Given the description of an element on the screen output the (x, y) to click on. 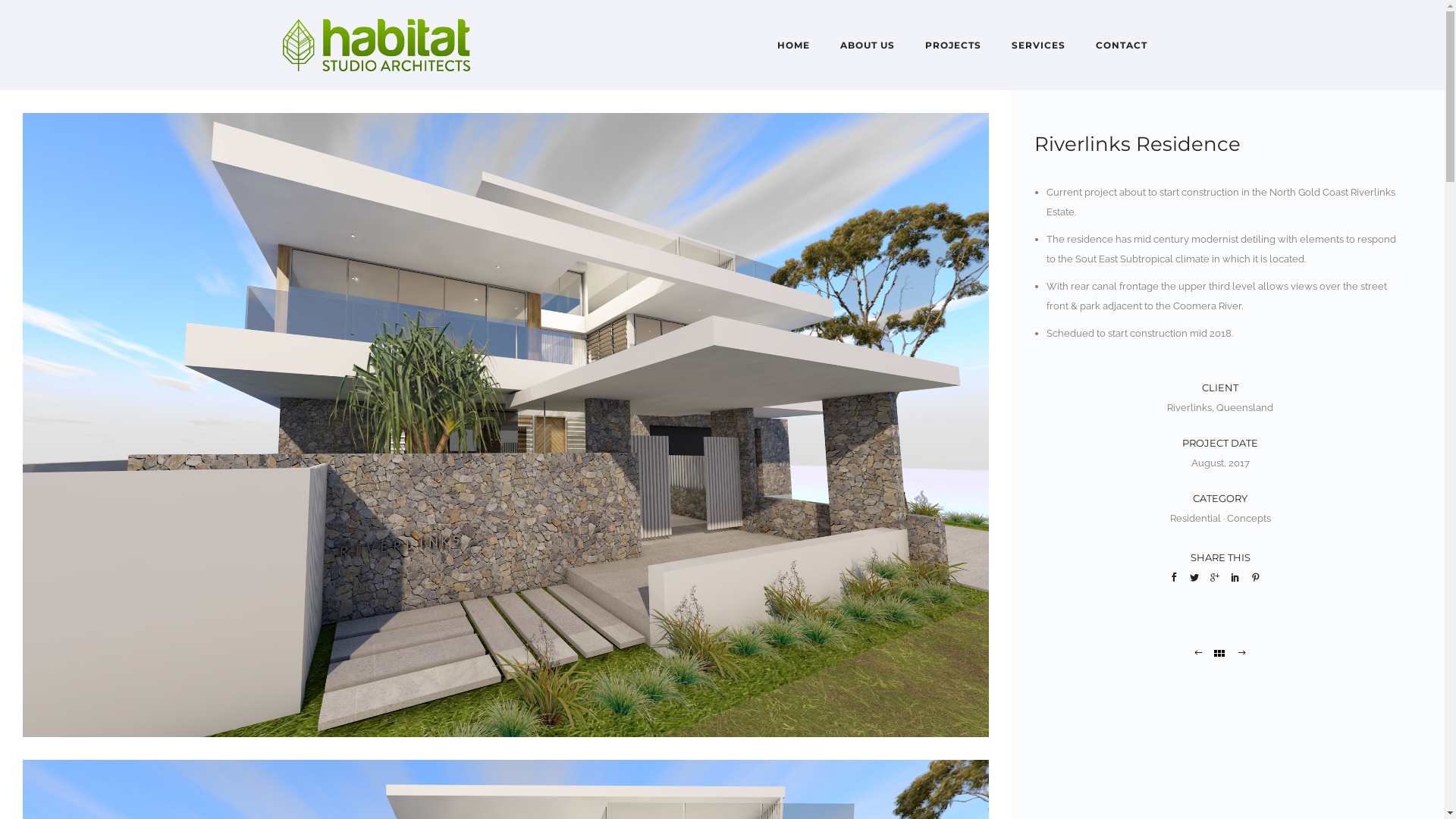
Brake Street Concept Element type: hover (1198, 653)
Residential Element type: text (1195, 518)
HOME Element type: text (792, 44)
ABOUT US Element type: text (867, 44)
CONTACT Element type: text (1120, 44)
SERVICES Element type: text (1038, 44)
PROJECTS Element type: text (953, 44)
Concepts Element type: text (1248, 518)
Mt Whitsunday Concept Element type: hover (1241, 653)
